Given the description of an element on the screen output the (x, y) to click on. 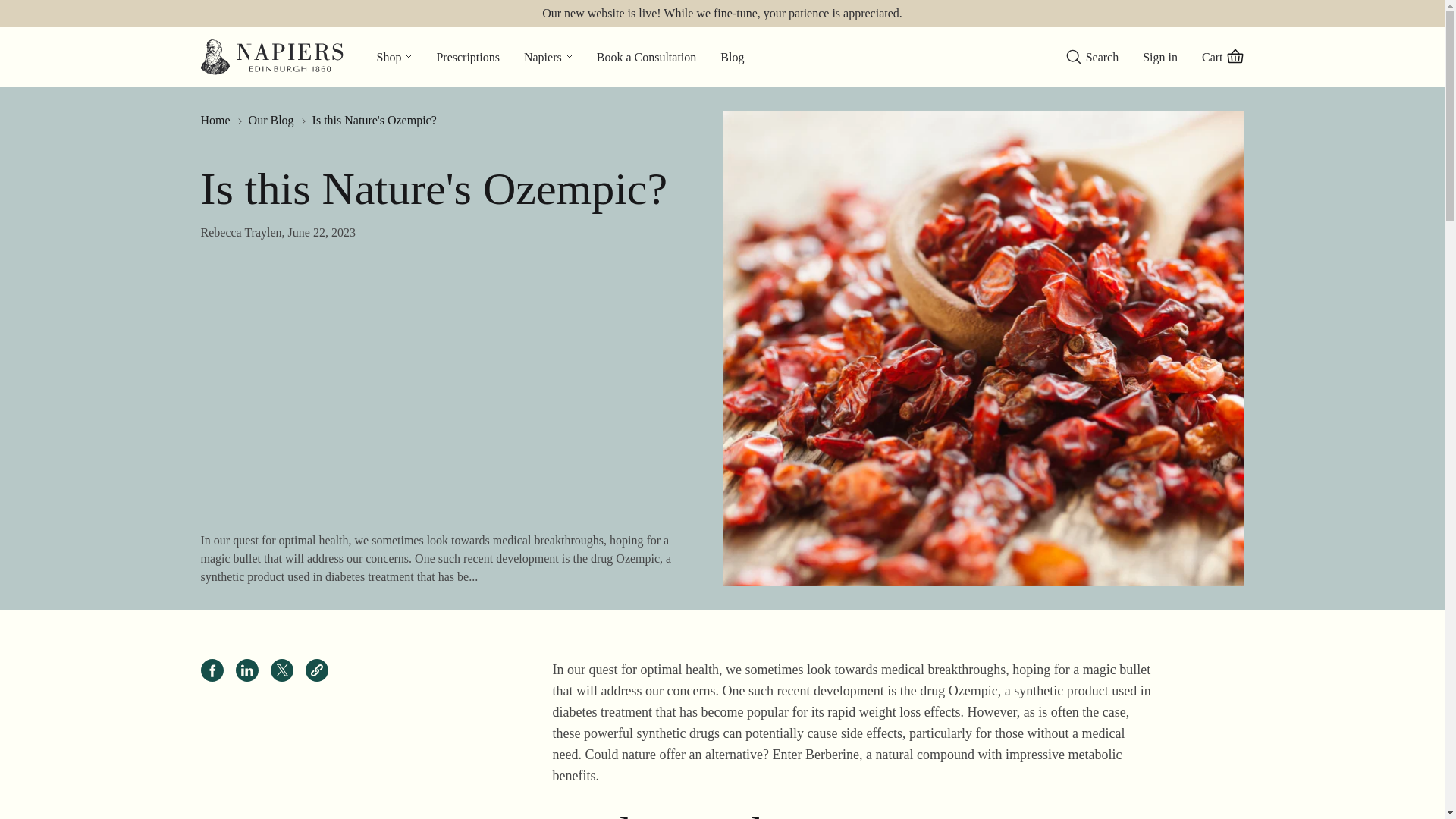
Prescriptions (467, 56)
Shop (393, 56)
Napiers (548, 56)
